Given the description of an element on the screen output the (x, y) to click on. 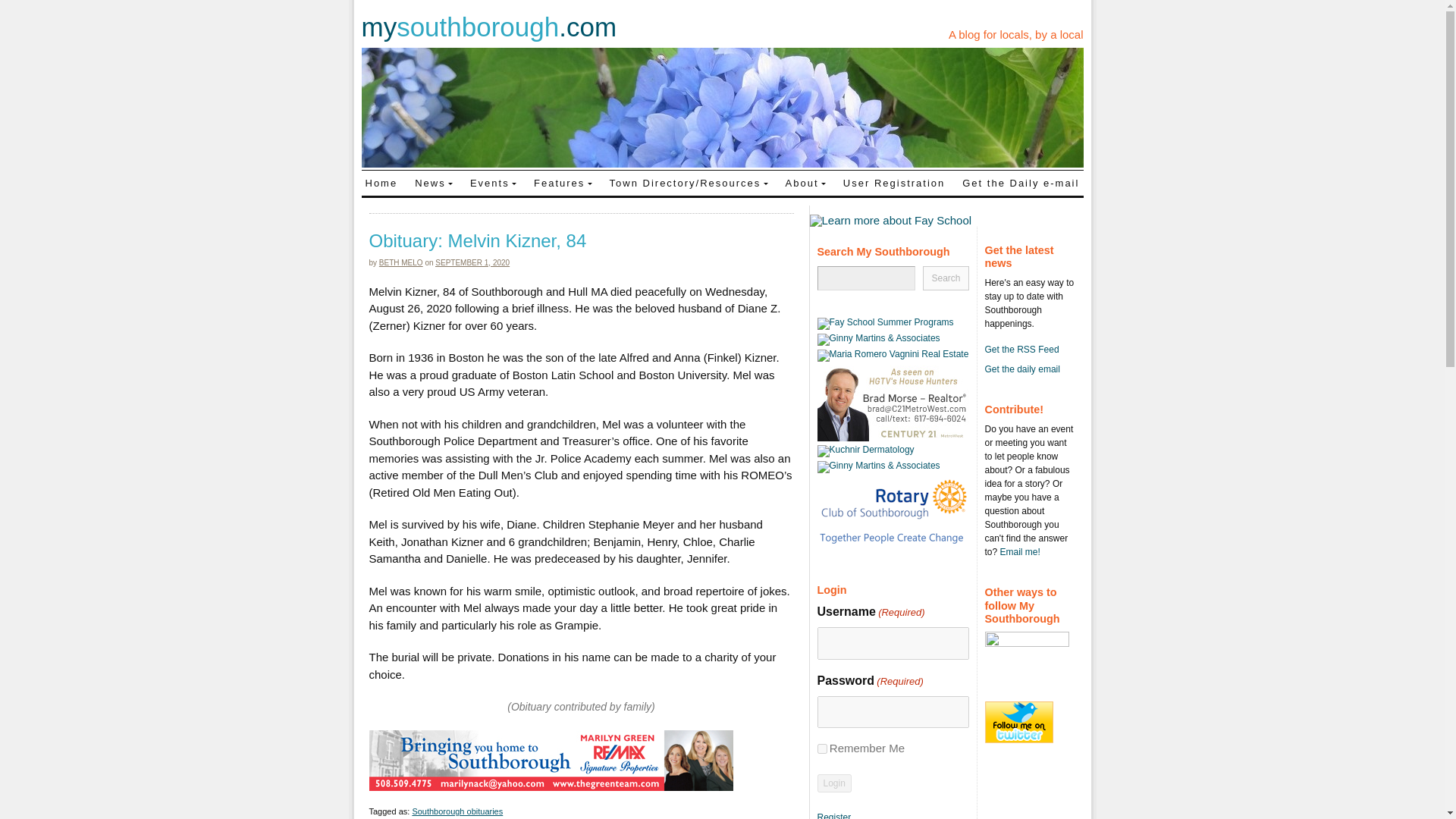
Features (562, 182)
mysouthborough.com (488, 26)
News (433, 182)
1 (821, 748)
Home (381, 182)
A blog for locals, by a local (1016, 33)
Login (833, 782)
News (433, 182)
Events (492, 182)
Events (492, 182)
Home (381, 182)
